Given the description of an element on the screen output the (x, y) to click on. 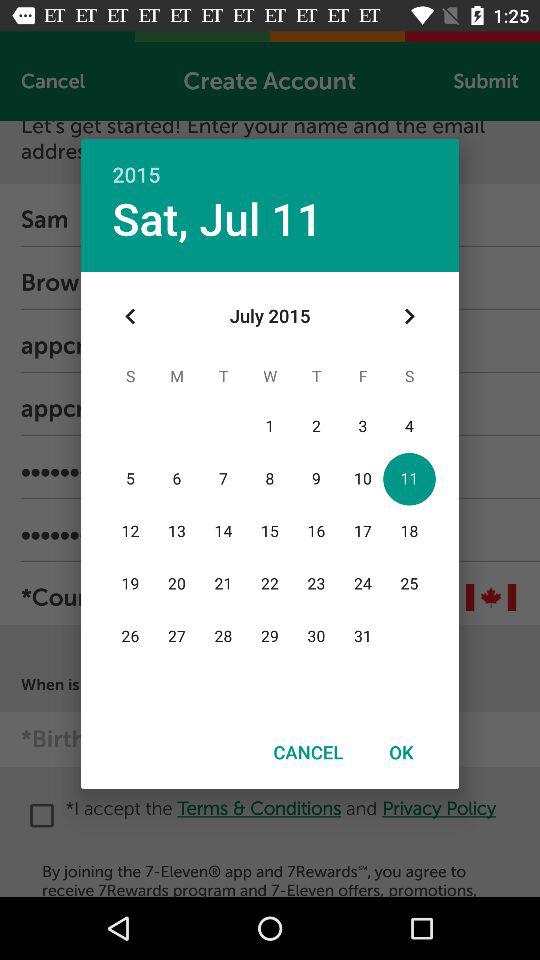
select icon next to cancel item (401, 751)
